Given the description of an element on the screen output the (x, y) to click on. 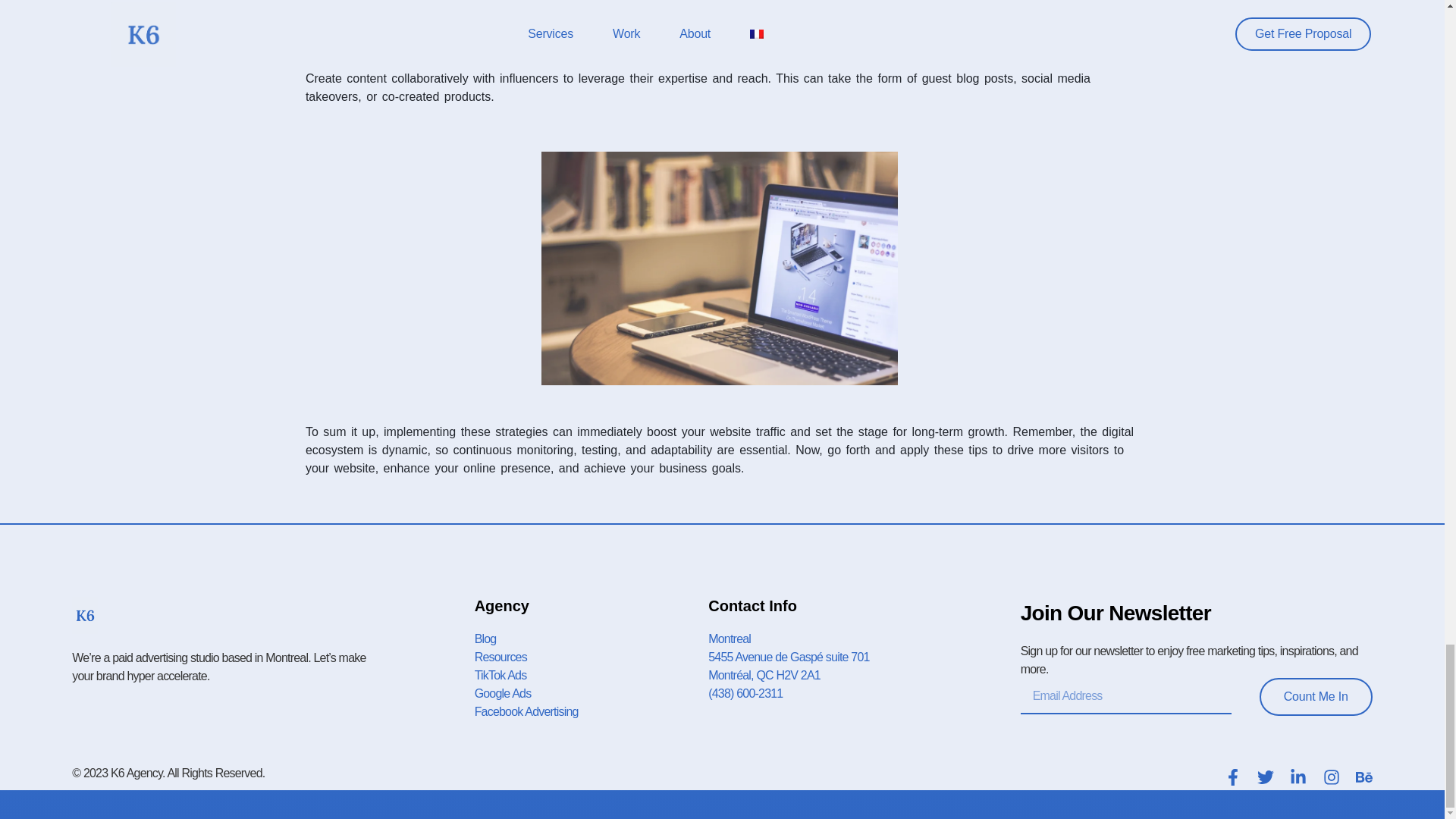
Google Ads (591, 693)
TikTok Ads (591, 675)
Resources (591, 657)
Count Me In (1316, 696)
Blog (591, 638)
Facebook Advertising (591, 711)
